Given the description of an element on the screen output the (x, y) to click on. 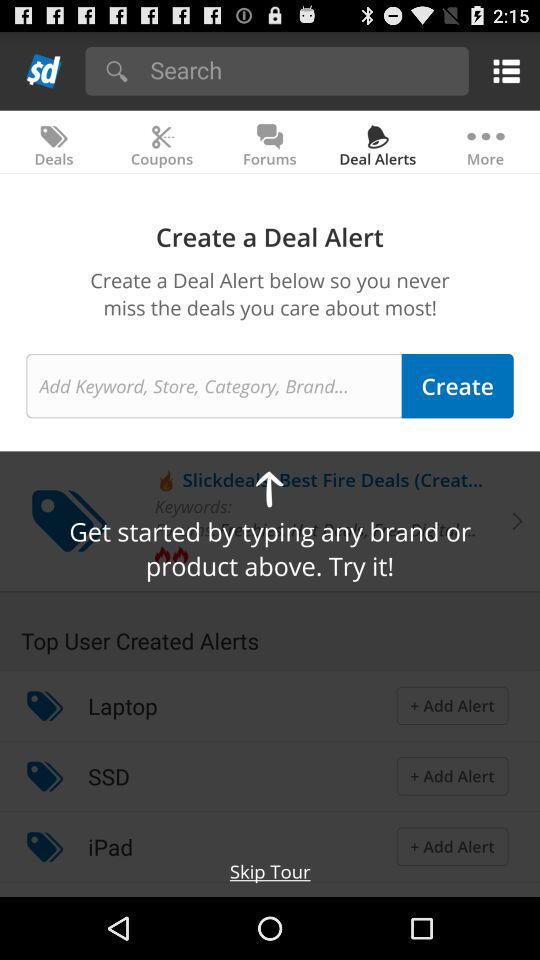
open icon below top user created icon (122, 705)
